Given the description of an element on the screen output the (x, y) to click on. 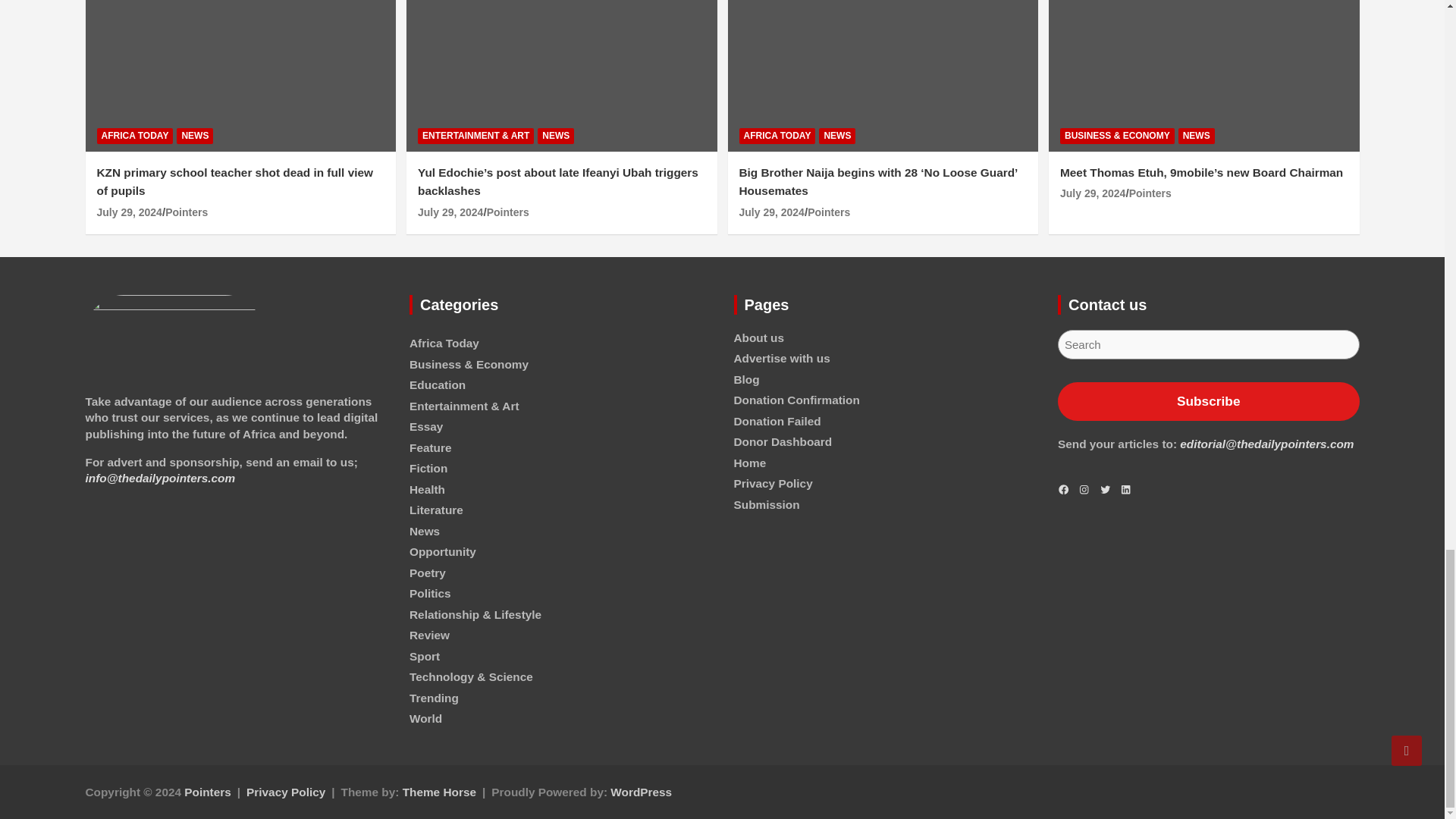
KZN primary school teacher shot dead in full view of pupils (129, 212)
